Given the description of an element on the screen output the (x, y) to click on. 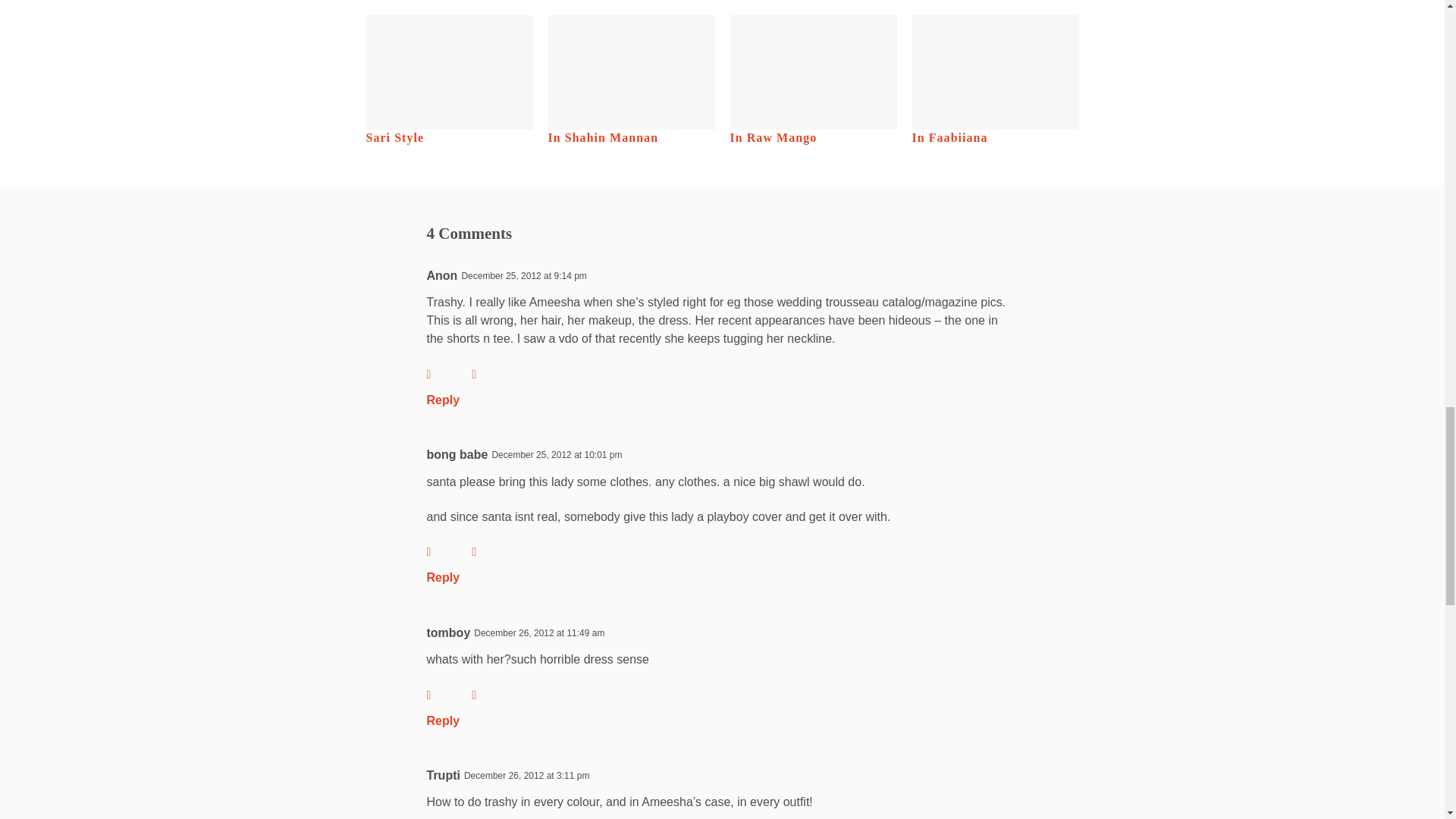
In Shahin Mannan (630, 80)
December 25, 2012 at 9:14 pm (523, 276)
In Faabiiana (994, 80)
In Raw Mango (812, 80)
Sari Style (448, 80)
